Given the description of an element on the screen output the (x, y) to click on. 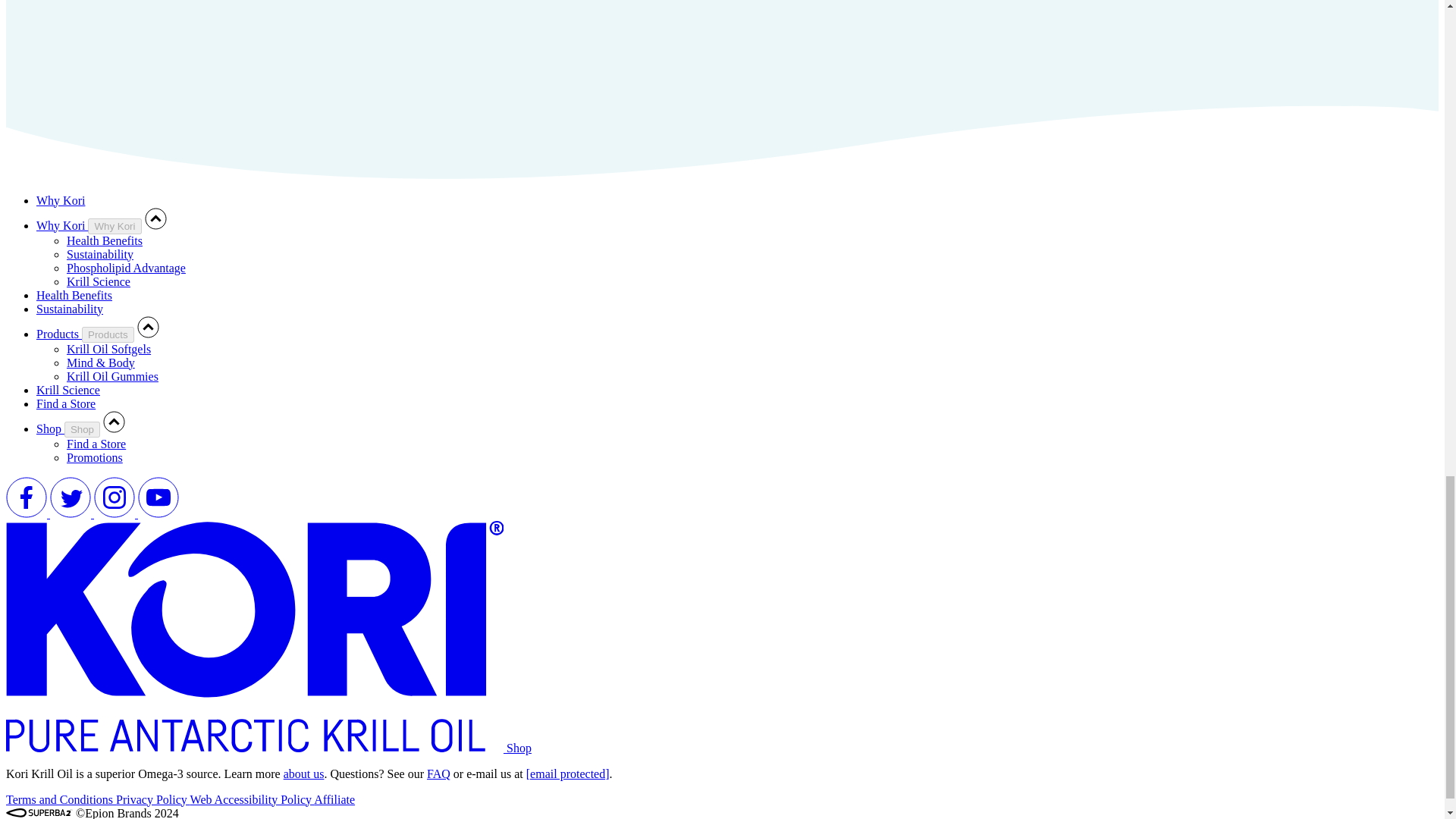
Kori Krill Oil (255, 748)
Why Kori (114, 226)
Why Kori (60, 200)
Why Kori (61, 225)
